Given the description of an element on the screen output the (x, y) to click on. 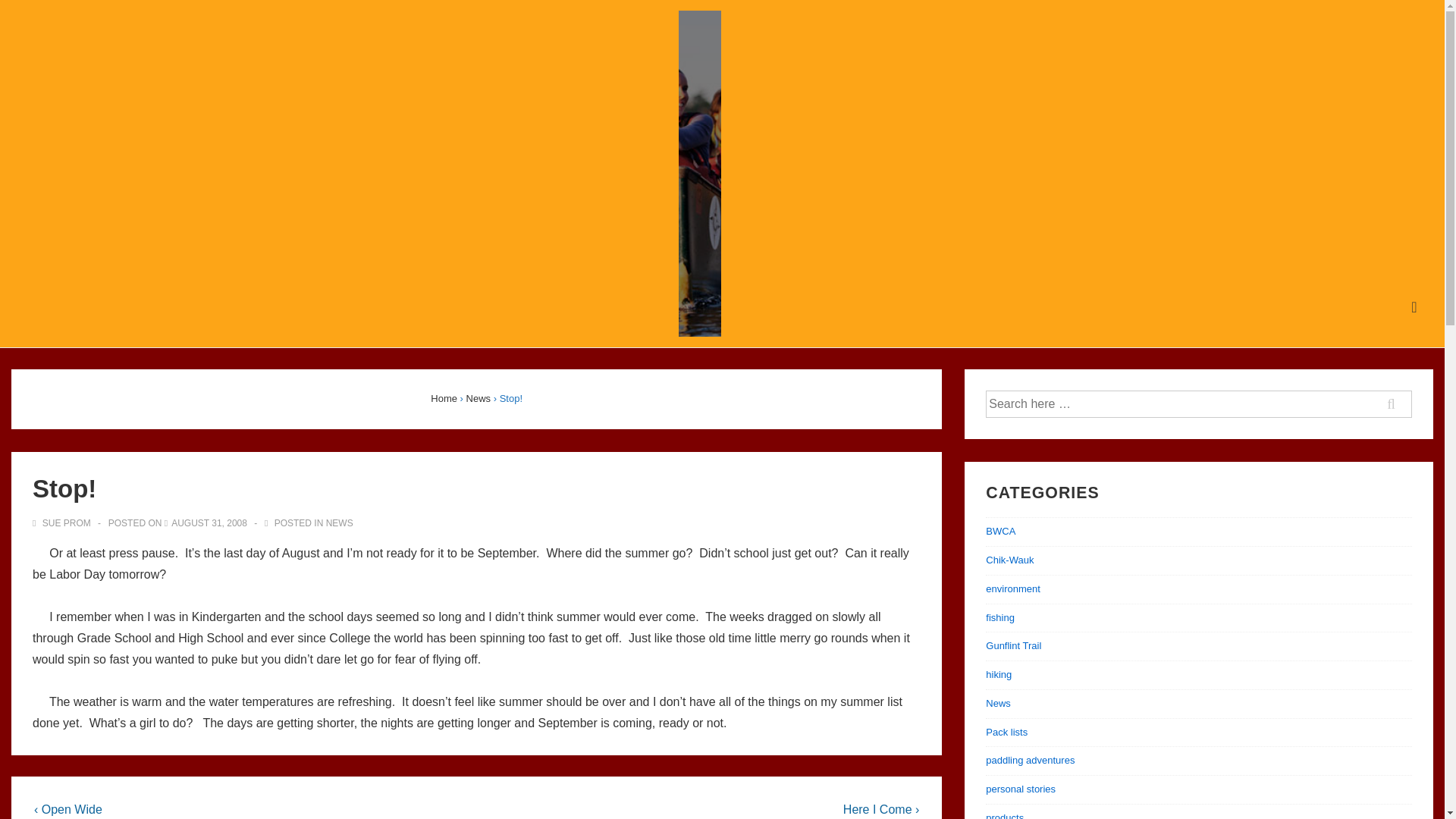
Gunflint Trail (1013, 645)
SUE PROM (62, 522)
Stop! (209, 522)
Chik-Wauk (1009, 559)
NEWS (339, 522)
View all posts by Sue Prom (62, 522)
paddling adventures (1029, 759)
AUGUST 31, 2008 (209, 522)
Pack lists (1006, 731)
hiking (998, 674)
News (997, 703)
products (1004, 815)
News (478, 398)
fishing (999, 617)
personal stories (1020, 788)
